Given the description of an element on the screen output the (x, y) to click on. 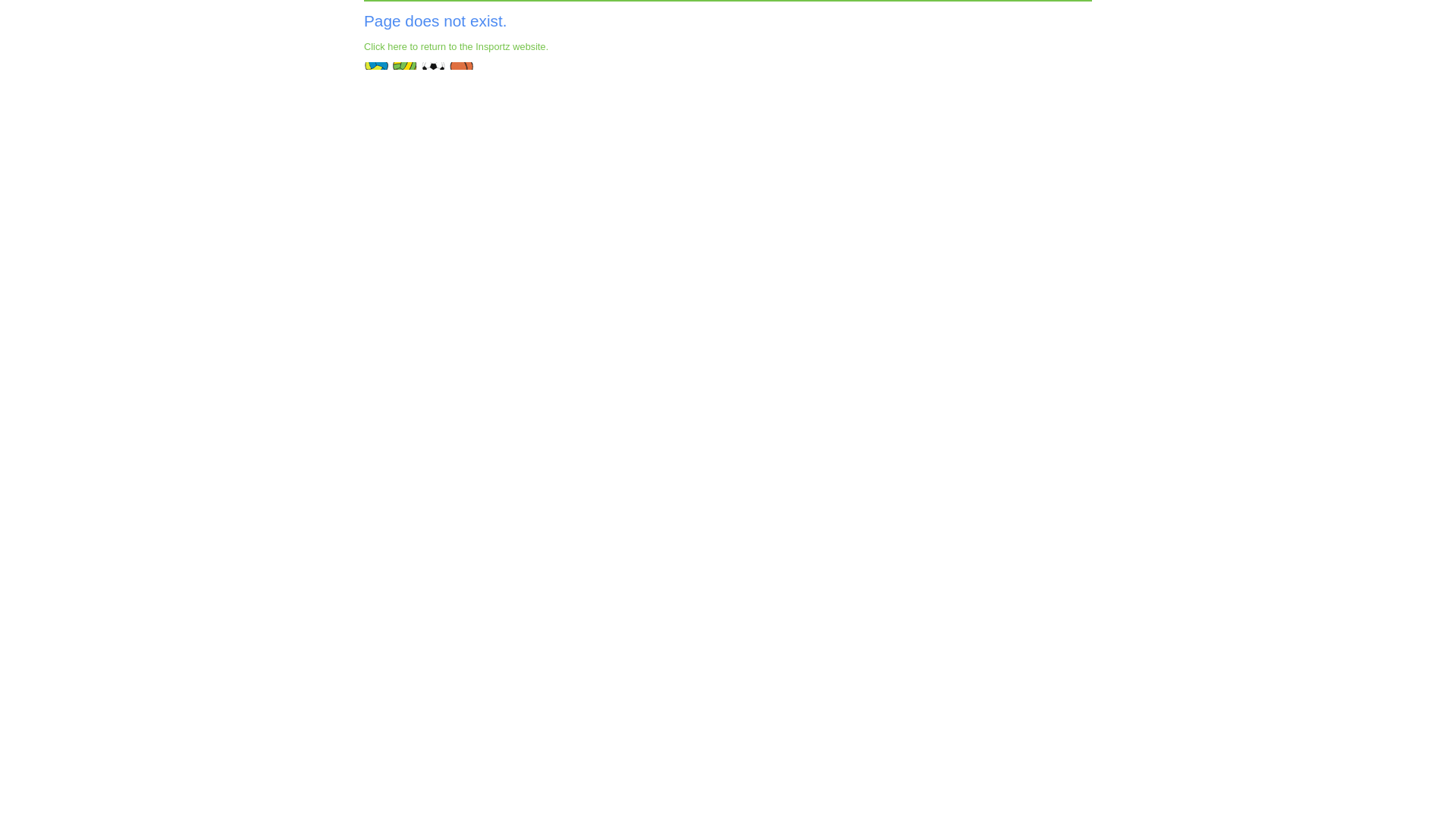
Click here to return to the Insportz website. Element type: text (456, 46)
